Given the description of an element on the screen output the (x, y) to click on. 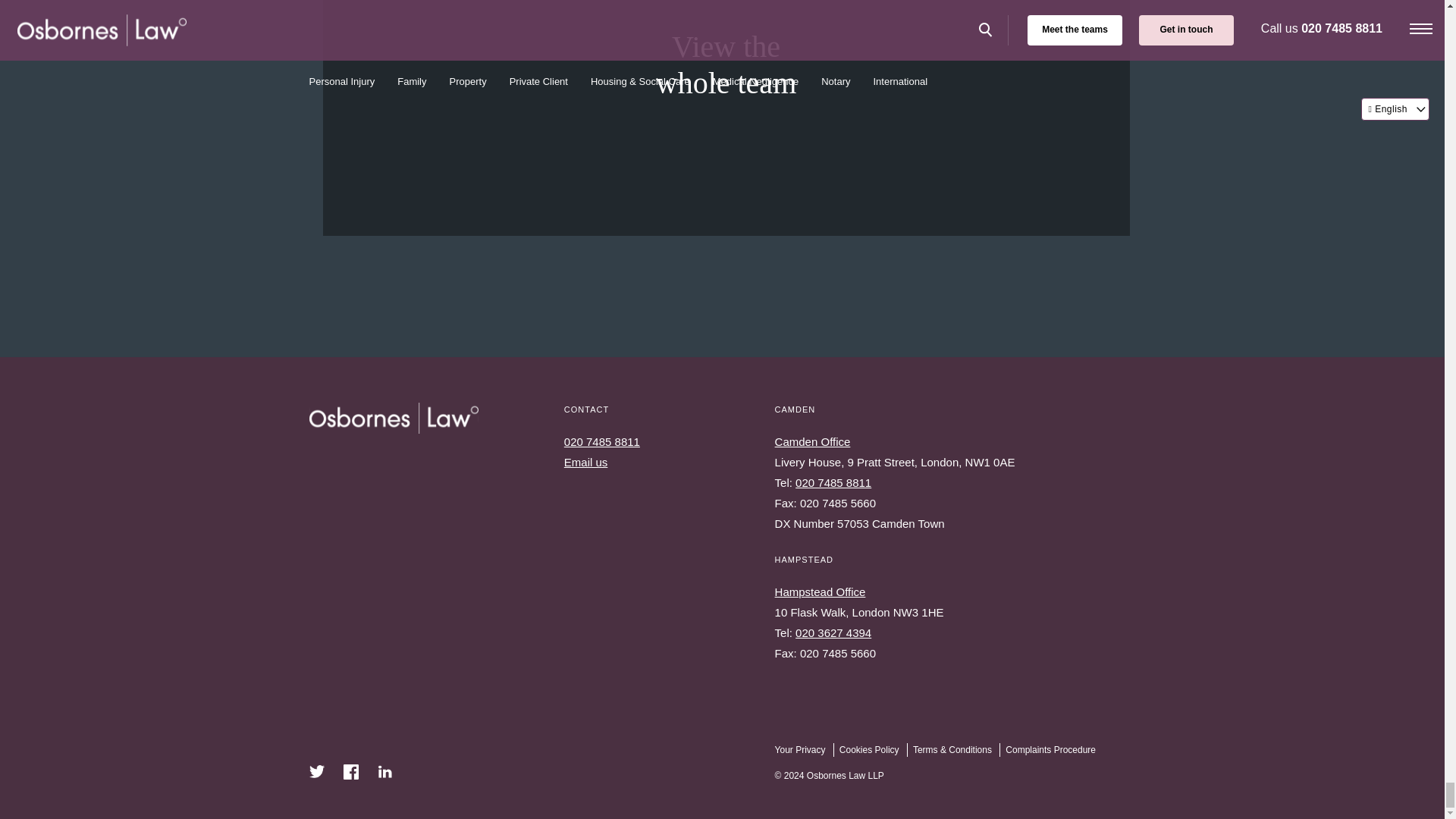
Regulated by SRA (1348, 752)
